Given the description of an element on the screen output the (x, y) to click on. 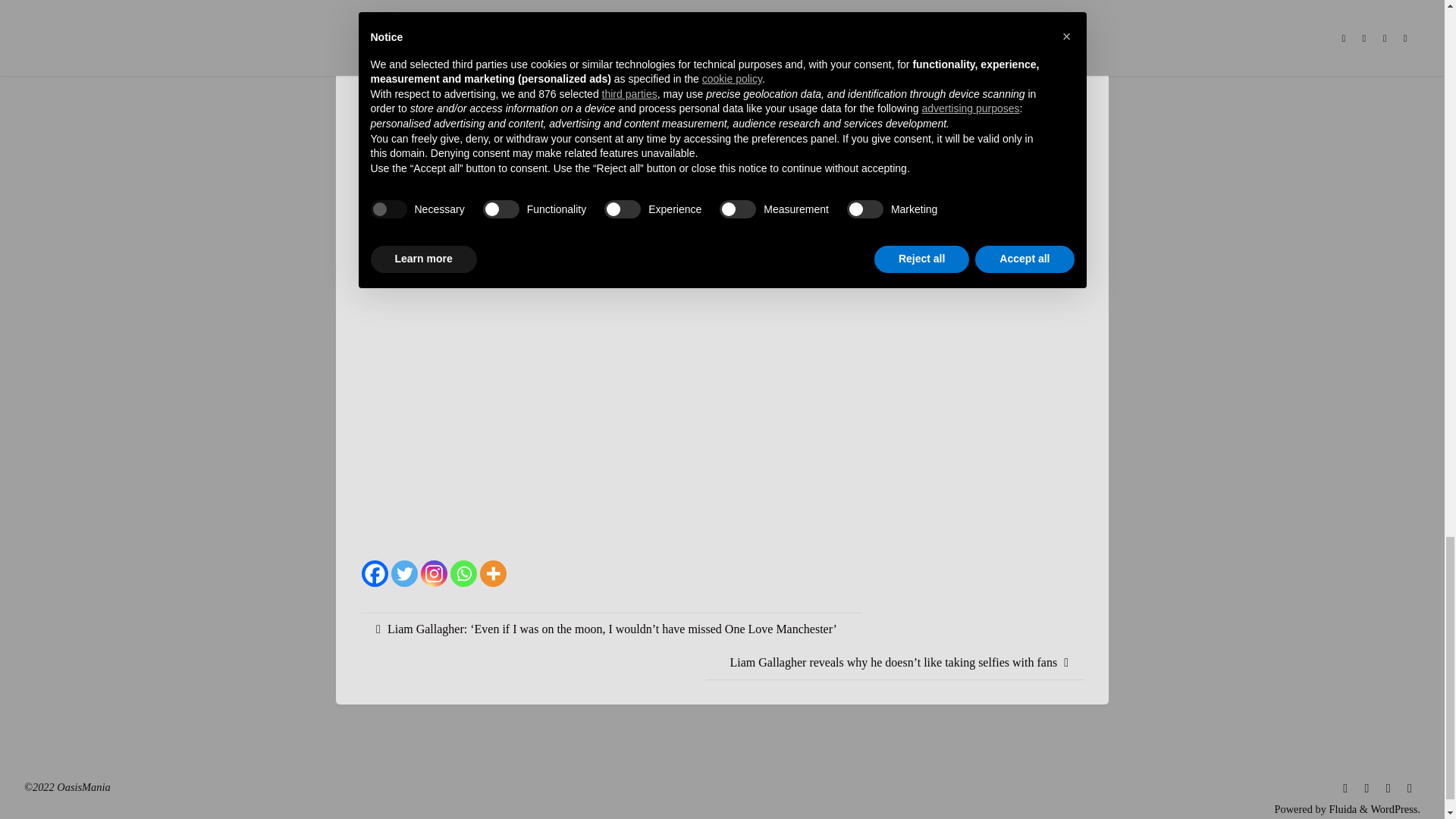
Twitter (404, 564)
Facebook (374, 564)
